Given the description of an element on the screen output the (x, y) to click on. 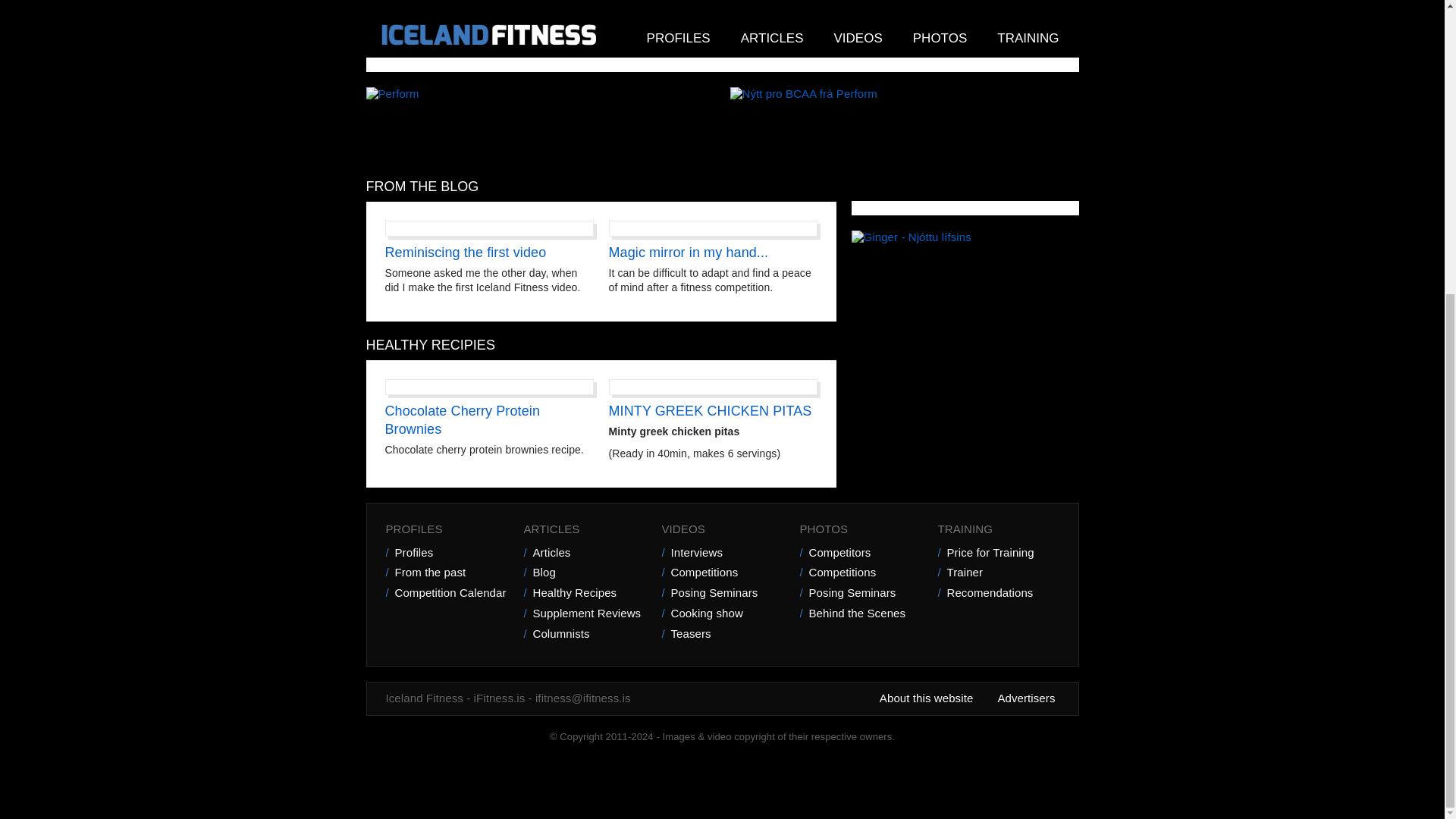
VIDEOS (722, 529)
Perform (392, 92)
From the past (446, 572)
Cooking show (722, 613)
Magic mirror in my hand... (688, 252)
Columnists (584, 634)
Healthy Recipes (584, 593)
Ginger (910, 236)
PHOTOS (860, 529)
Supplement Reviews (584, 613)
